Given the description of an element on the screen output the (x, y) to click on. 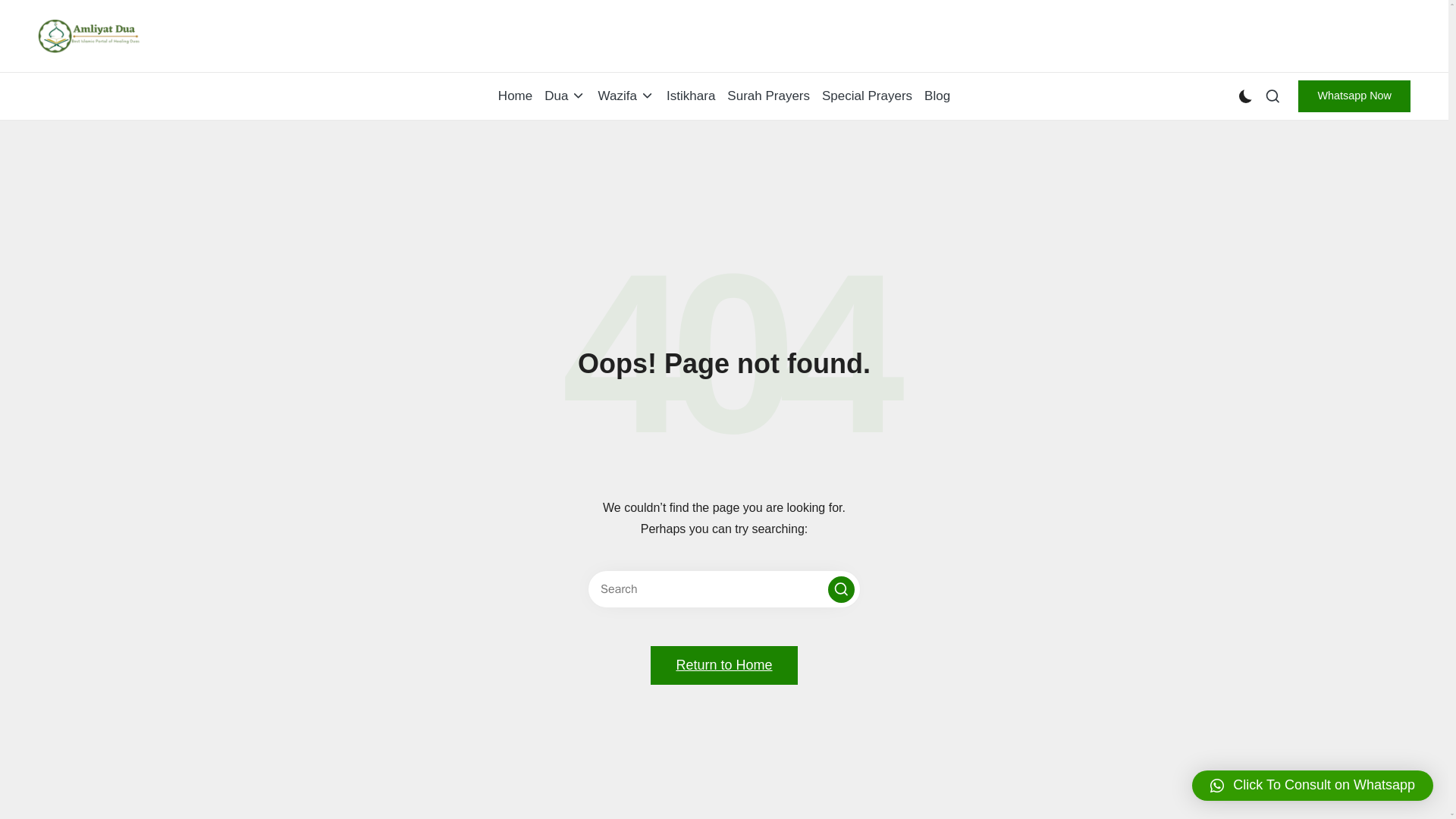
Dua (564, 96)
Surah Prayers (767, 96)
Special Prayers (867, 96)
Wazifa (626, 96)
Istikhara (690, 96)
